Given the description of an element on the screen output the (x, y) to click on. 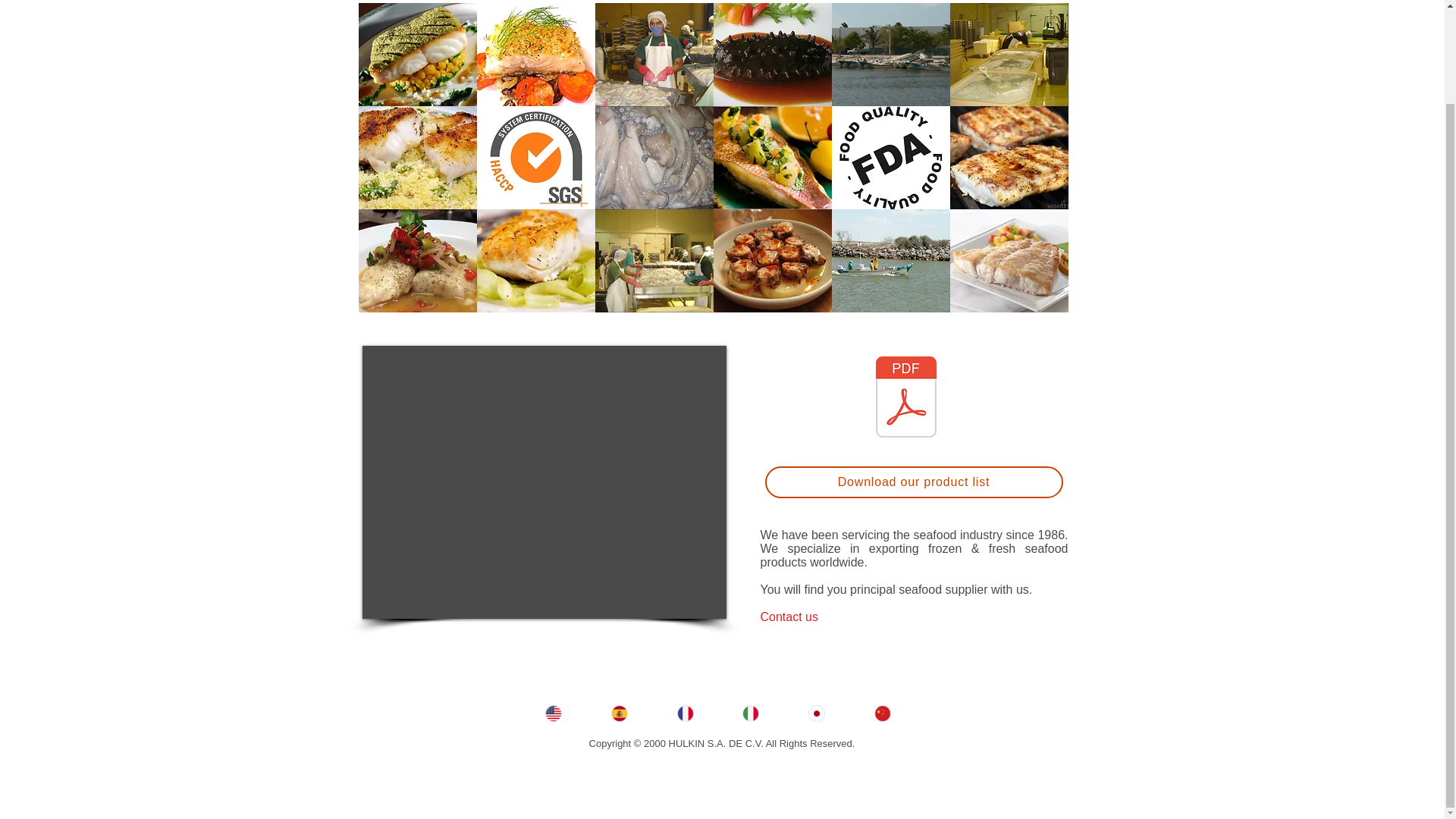
External YouTube (544, 482)
Download our product list (913, 481)
